Given the description of an element on the screen output the (x, y) to click on. 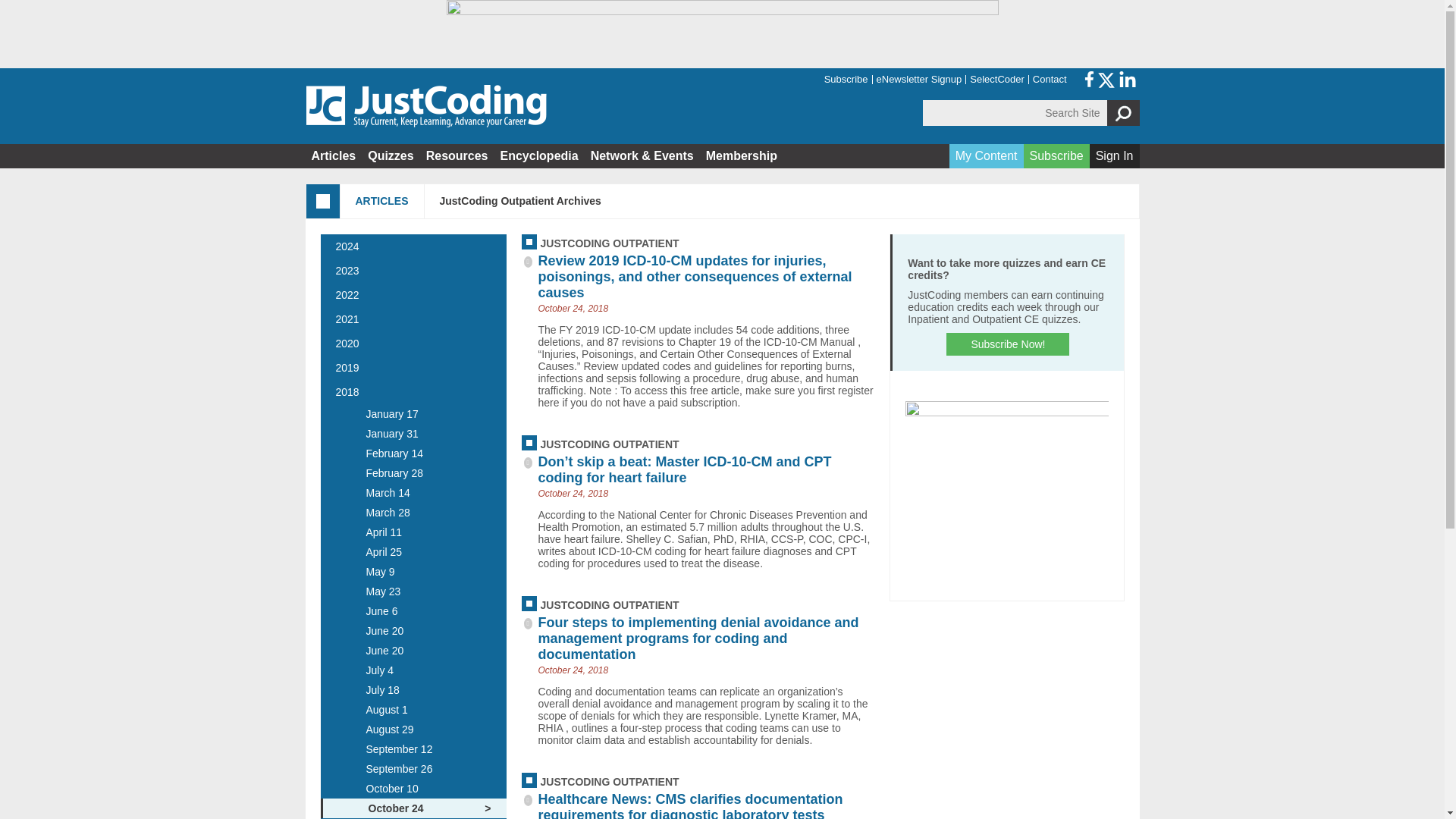
Quizzes (390, 155)
Subscribe (846, 79)
Encyclopedia (540, 155)
Contact (1049, 79)
SelectCoder (997, 79)
Home (425, 105)
Enter the terms you wish to search for. (1015, 112)
Resources (457, 155)
eNewsletter Signup (919, 79)
